Given the description of an element on the screen output the (x, y) to click on. 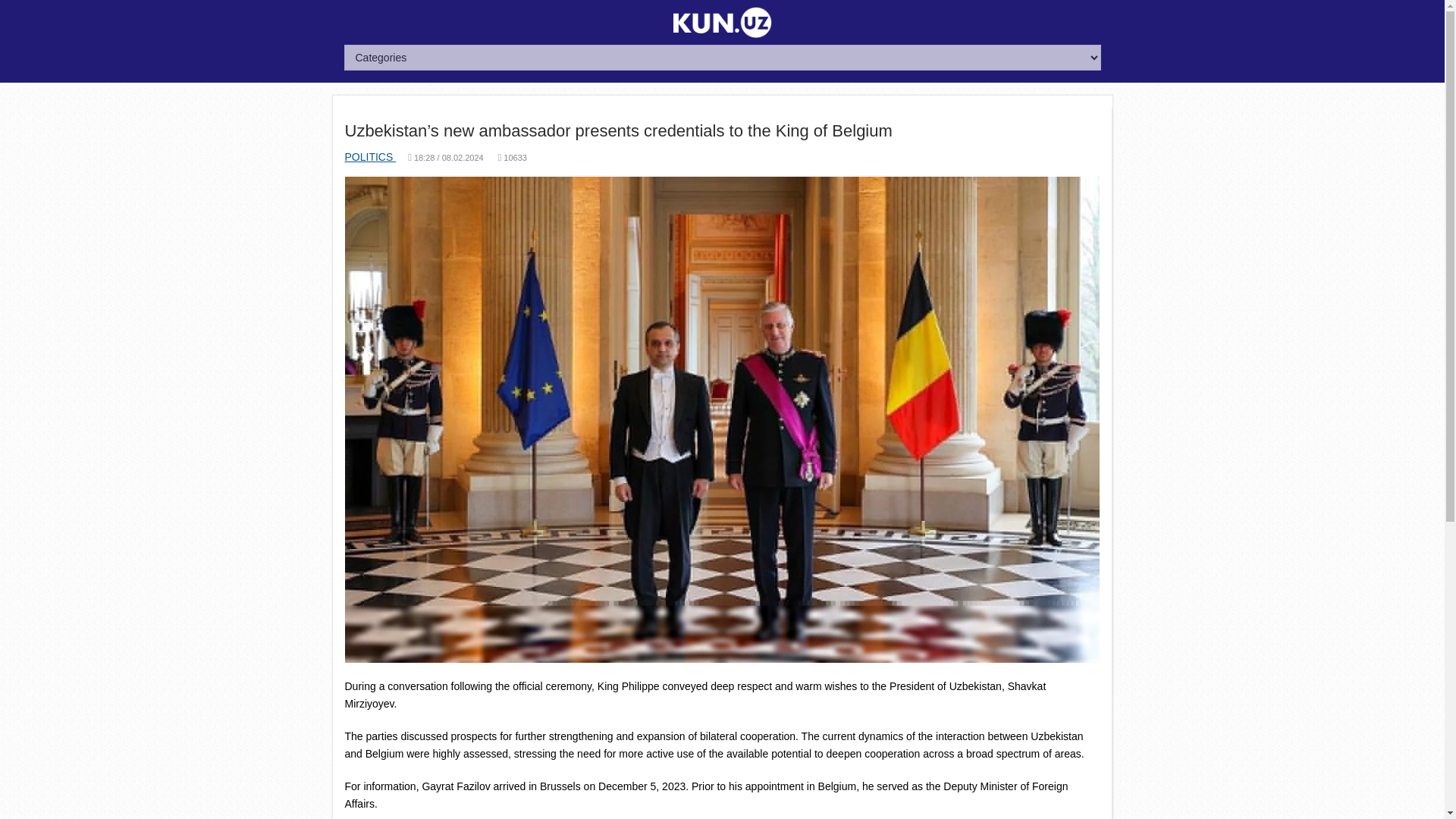
POLITICS (369, 156)
